Given the description of an element on the screen output the (x, y) to click on. 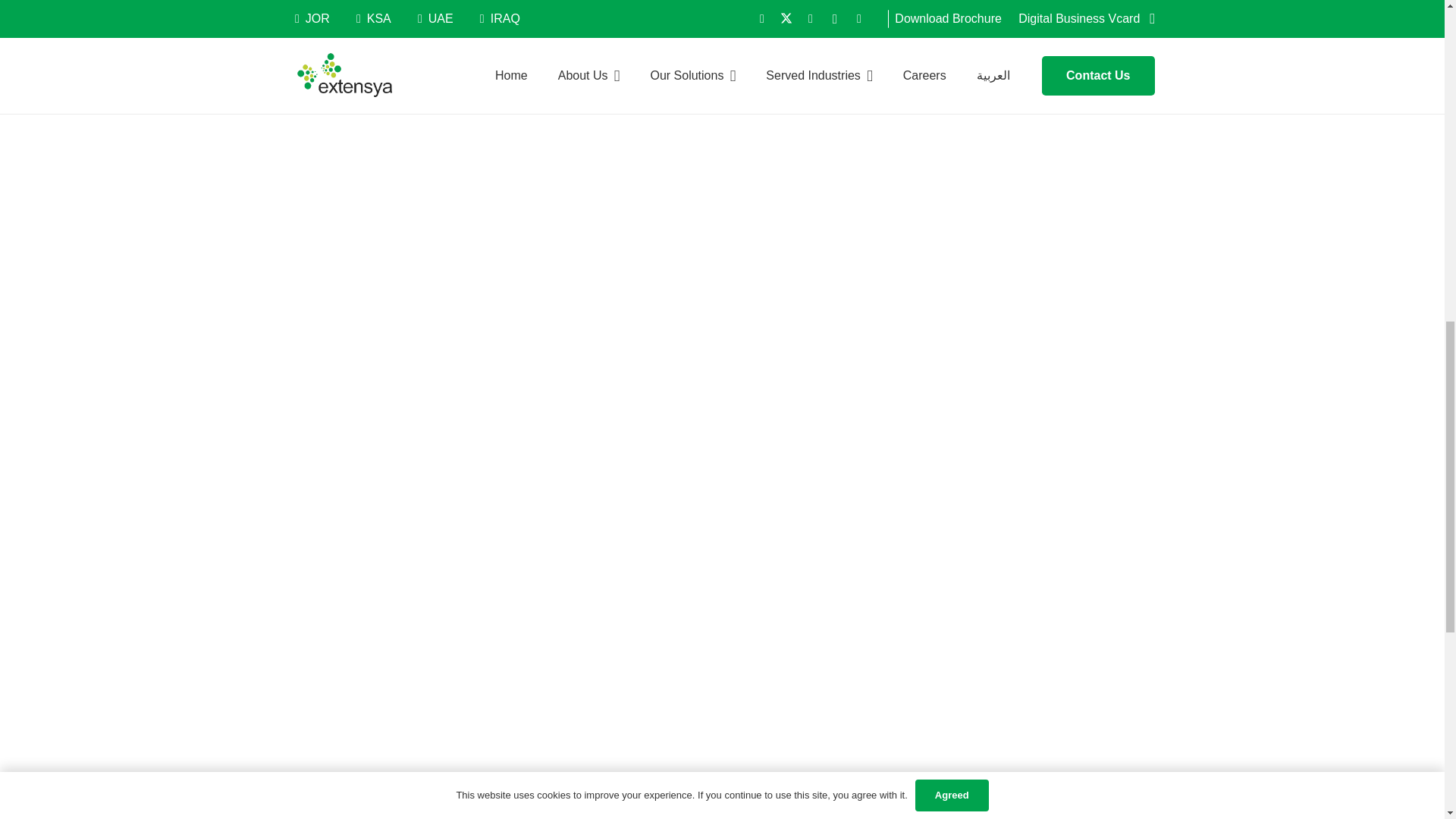
Back to top (1413, 26)
